Given the description of an element on the screen output the (x, y) to click on. 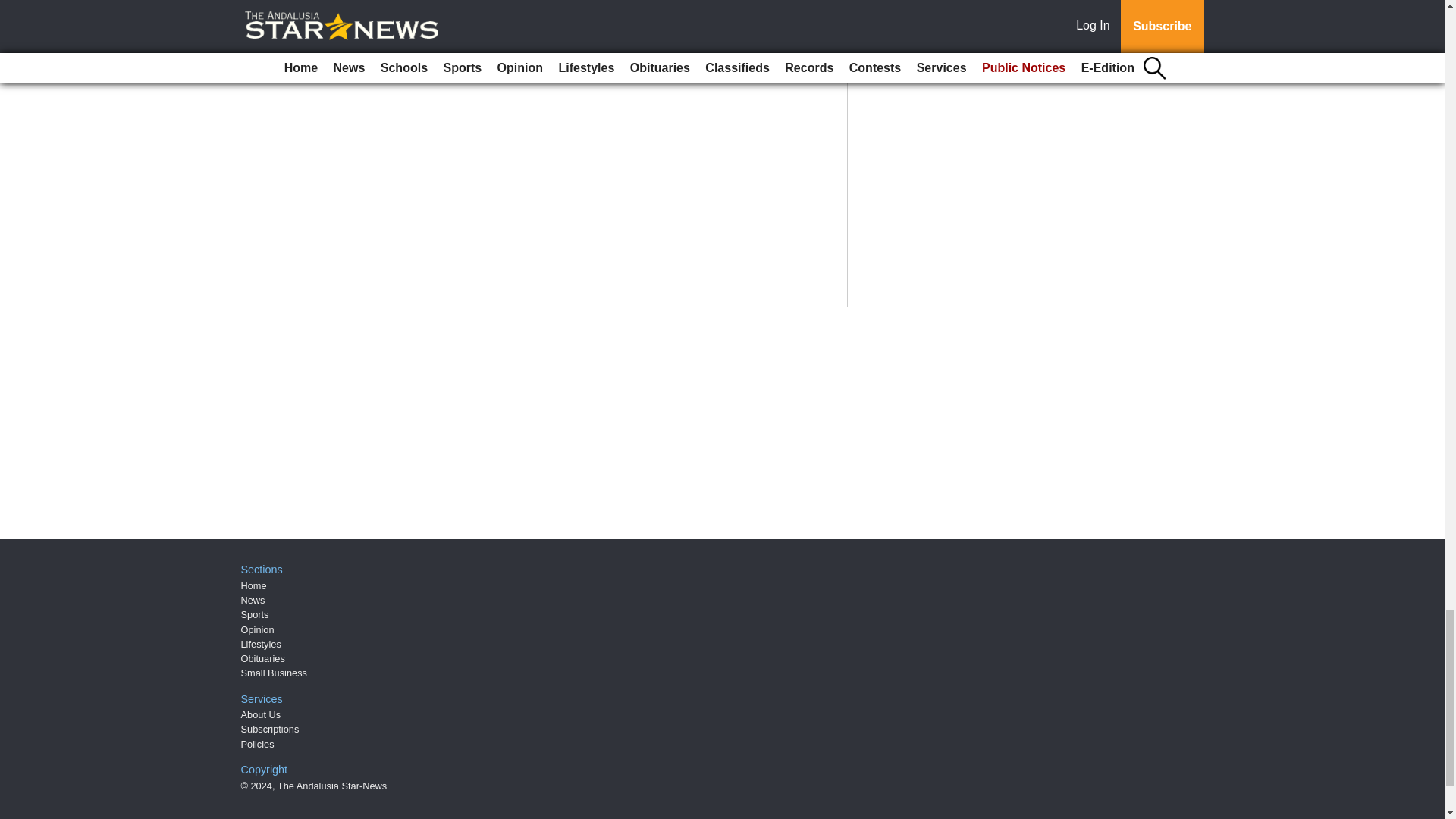
Opinion (258, 629)
Lifestyles (261, 644)
Home (253, 585)
News (252, 600)
Sports (255, 614)
Obituaries (263, 658)
